Given the description of an element on the screen output the (x, y) to click on. 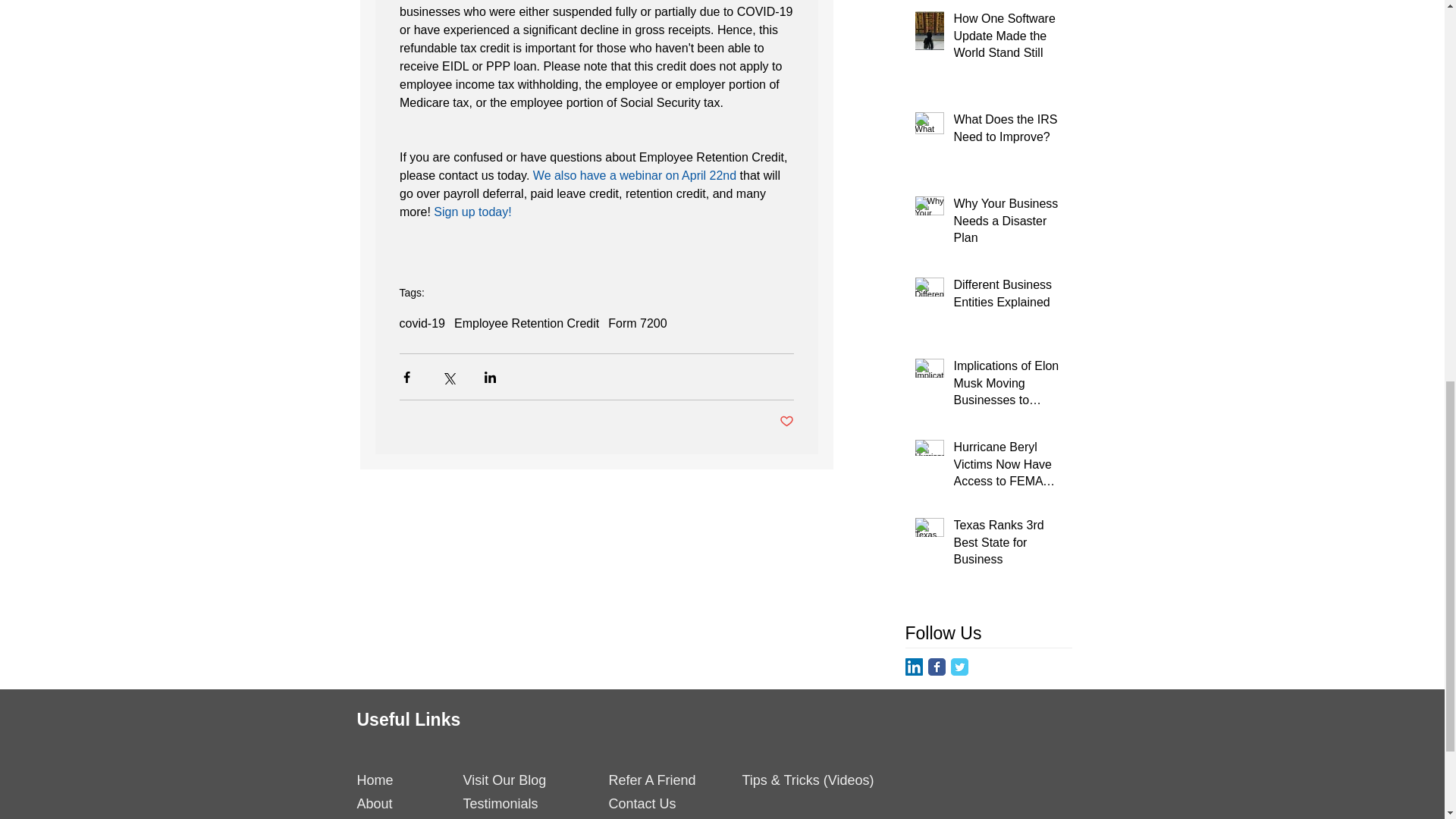
Employee Retention Credit (526, 323)
We also have a webinar on April 22nd (633, 174)
Sign up today! (472, 211)
covid-19 (421, 323)
